Given the description of an element on the screen output the (x, y) to click on. 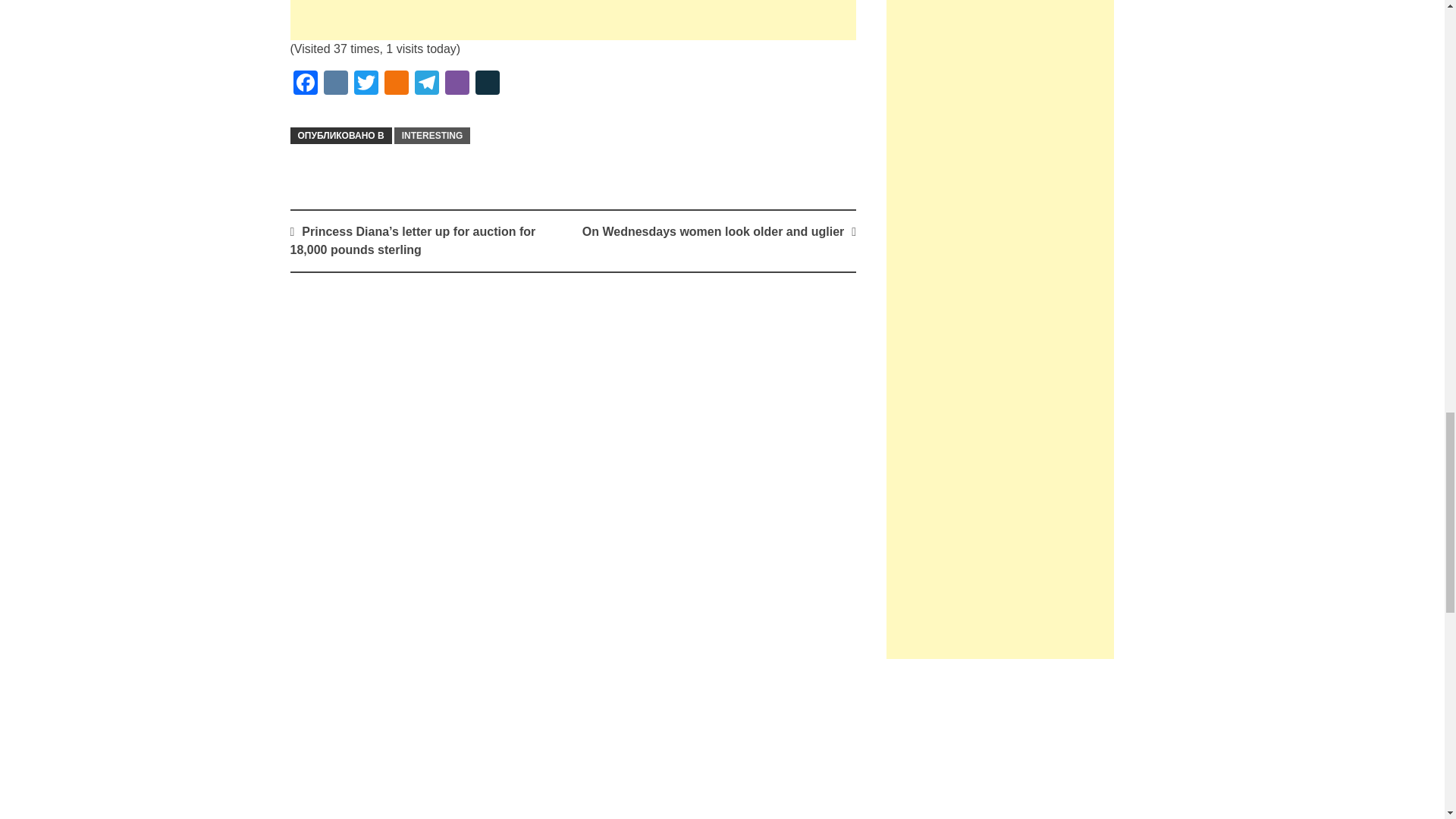
LiveJournal (486, 84)
Telegram (425, 84)
Odnoklassniki (395, 84)
Twitter (365, 84)
VK (335, 84)
Odnoklassniki (395, 84)
Facebook (304, 84)
On Wednesdays women look older and uglier (713, 231)
INTERESTING (432, 135)
Viber (456, 84)
